Given the description of an element on the screen output the (x, y) to click on. 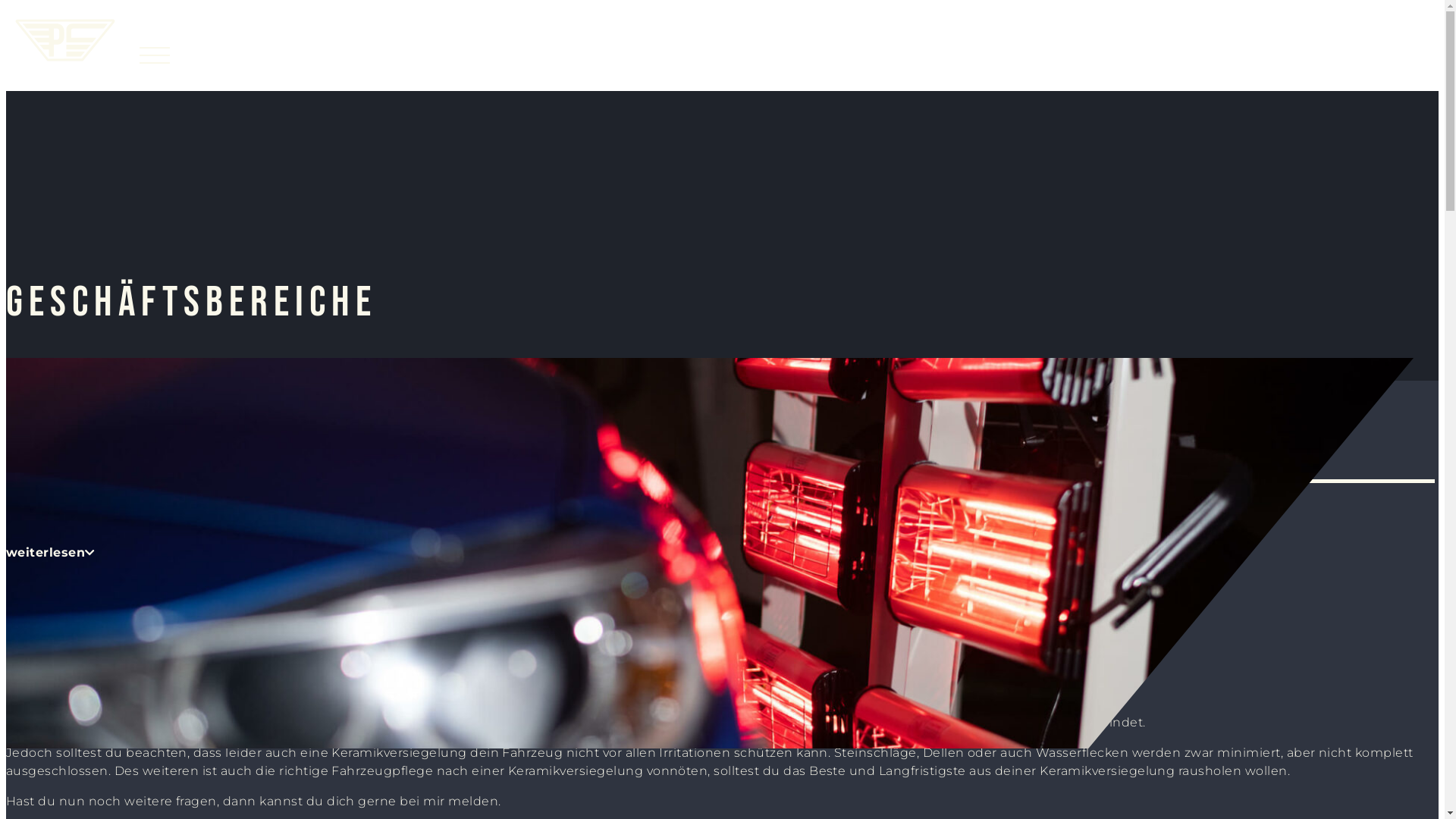
weiterlesen Element type: text (50, 552)
